Given the description of an element on the screen output the (x, y) to click on. 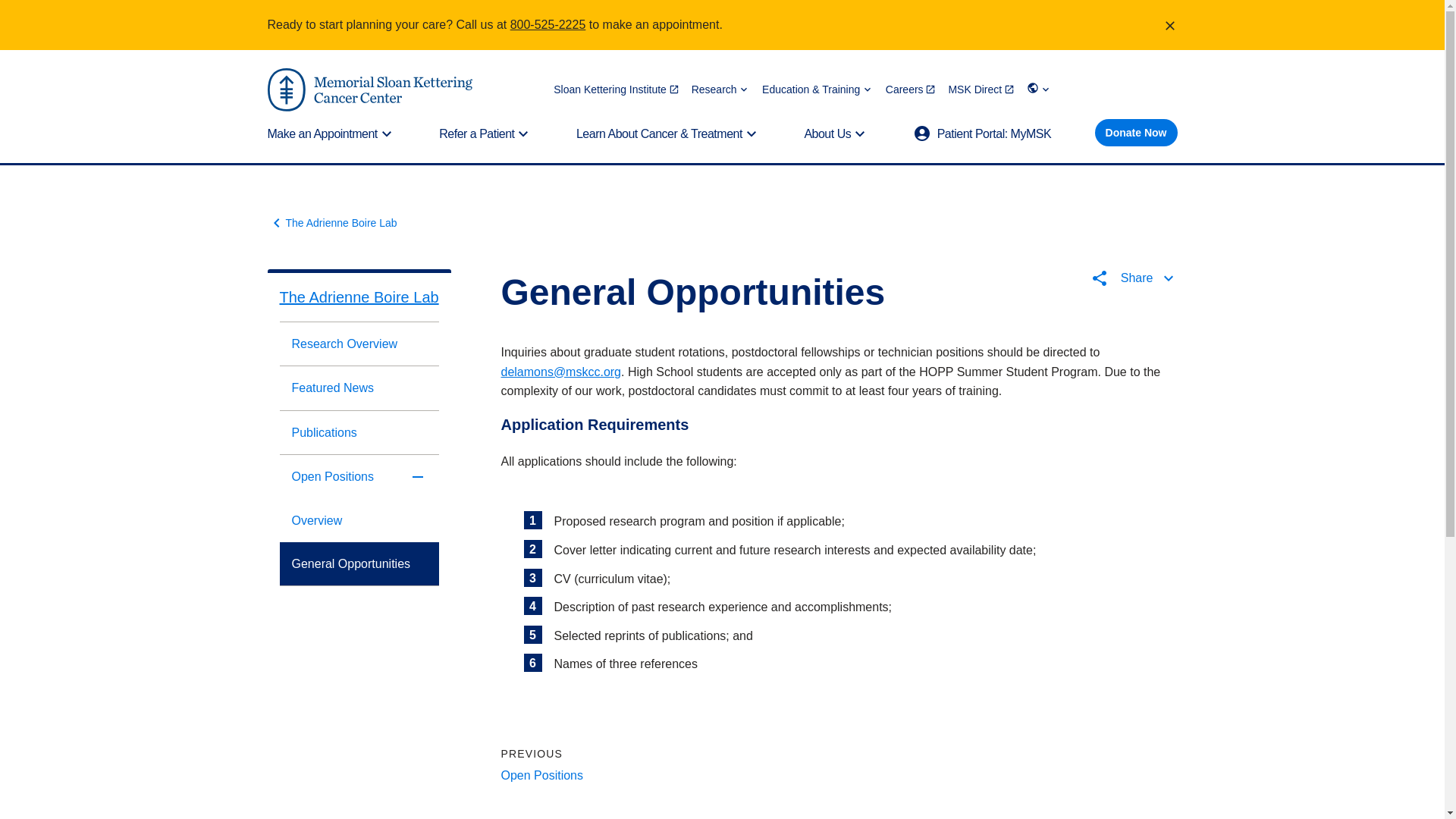
Sloan Kettering Institute (615, 89)
800-525-2225 (548, 24)
Research (720, 89)
Careers (910, 89)
MSK Direct (980, 89)
Donate Now (1135, 132)
